Given the description of an element on the screen output the (x, y) to click on. 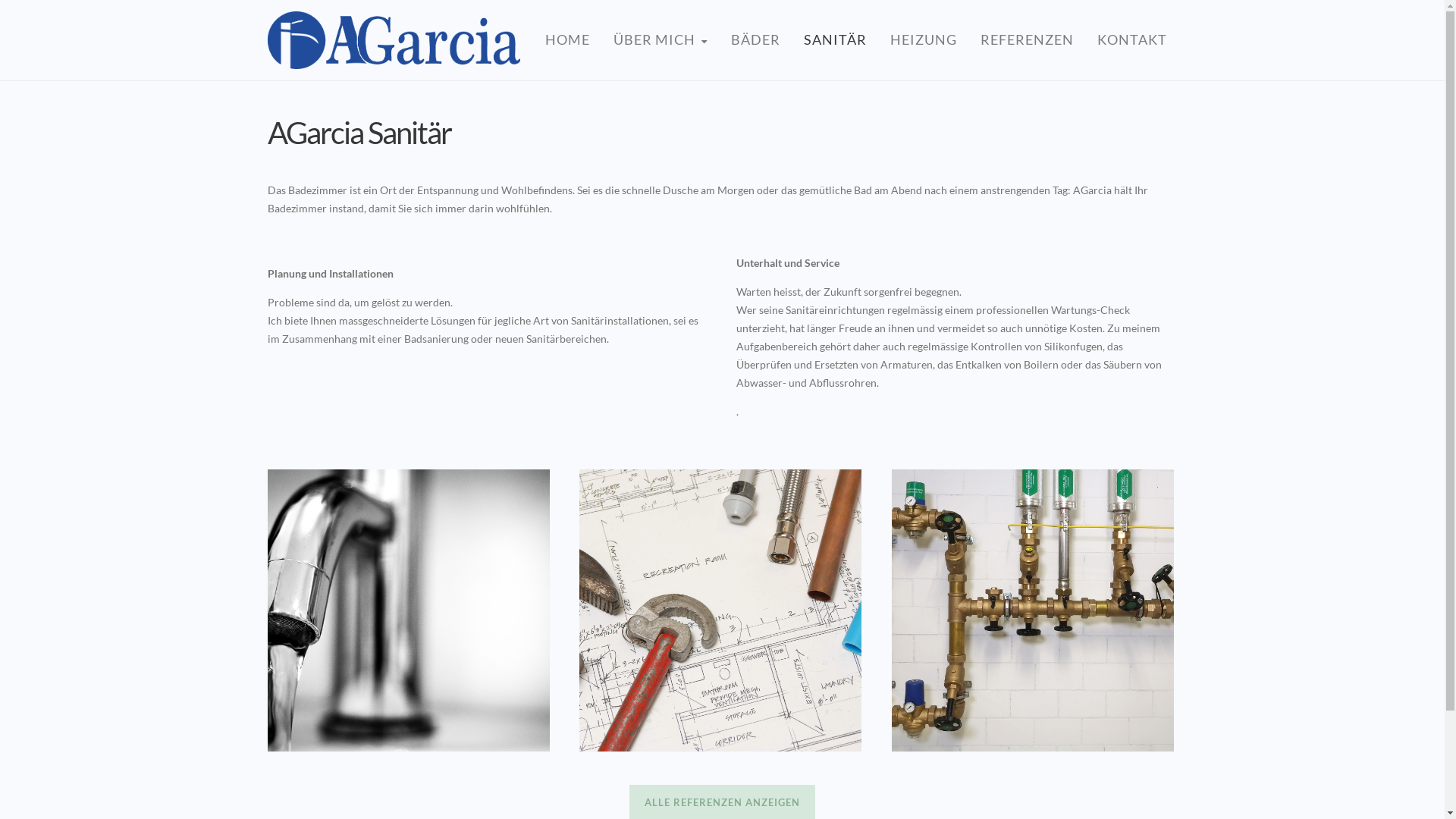
HEIZUNG Element type: text (923, 38)
REFERENZEN Element type: text (1026, 38)
HOME Element type: text (571, 38)
logo Element type: hover (392, 40)
Fliessendes Wasser kann beruhigend sein Element type: hover (407, 610)
KONTAKT Element type: text (1130, 38)
